Given the description of an element on the screen output the (x, y) to click on. 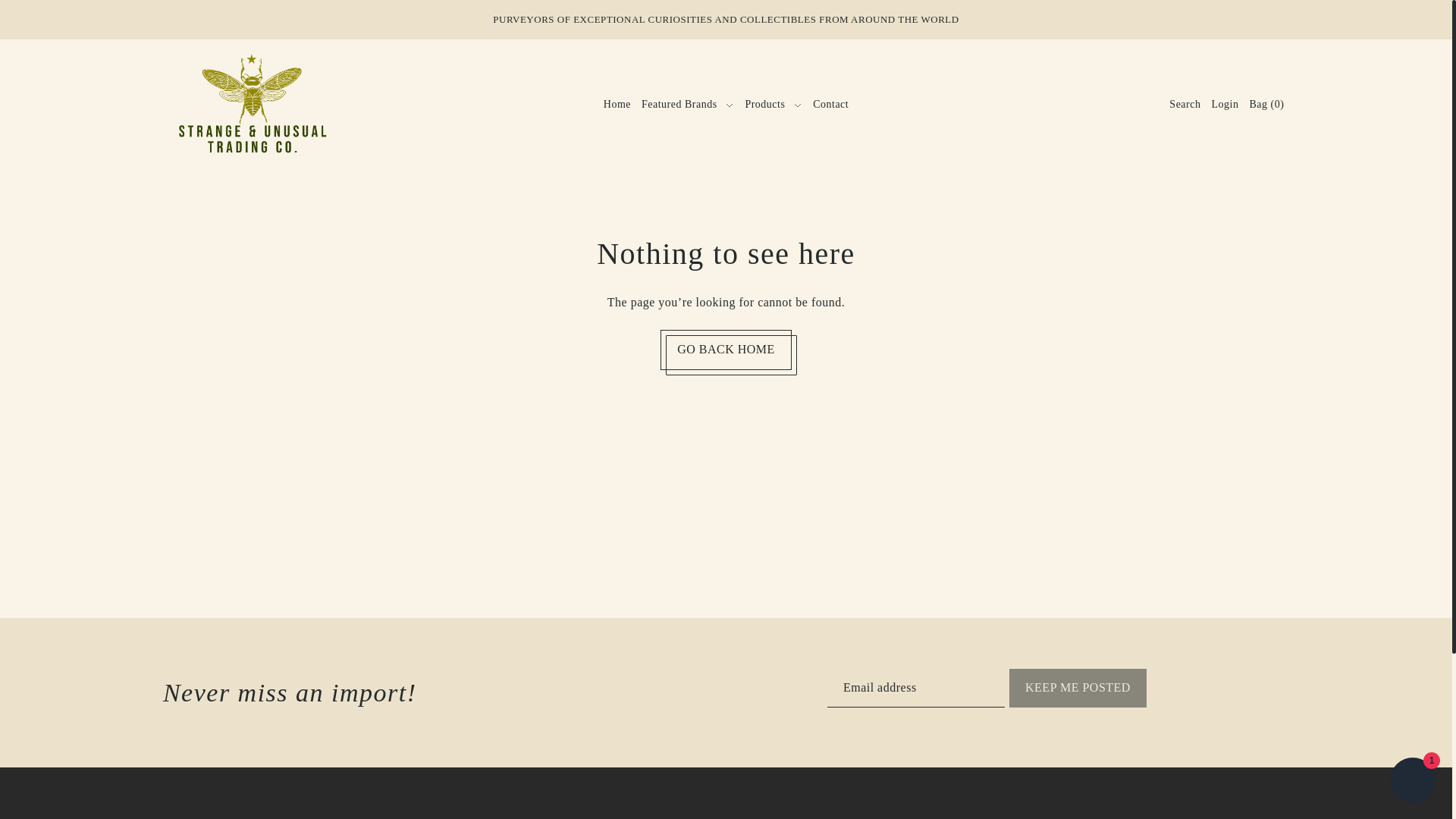
Contact (830, 104)
Search (1185, 104)
Login (1225, 104)
Featured Brands (687, 104)
Home (617, 104)
Products (773, 104)
Shopify online store chat (1412, 781)
